Given the description of an element on the screen output the (x, y) to click on. 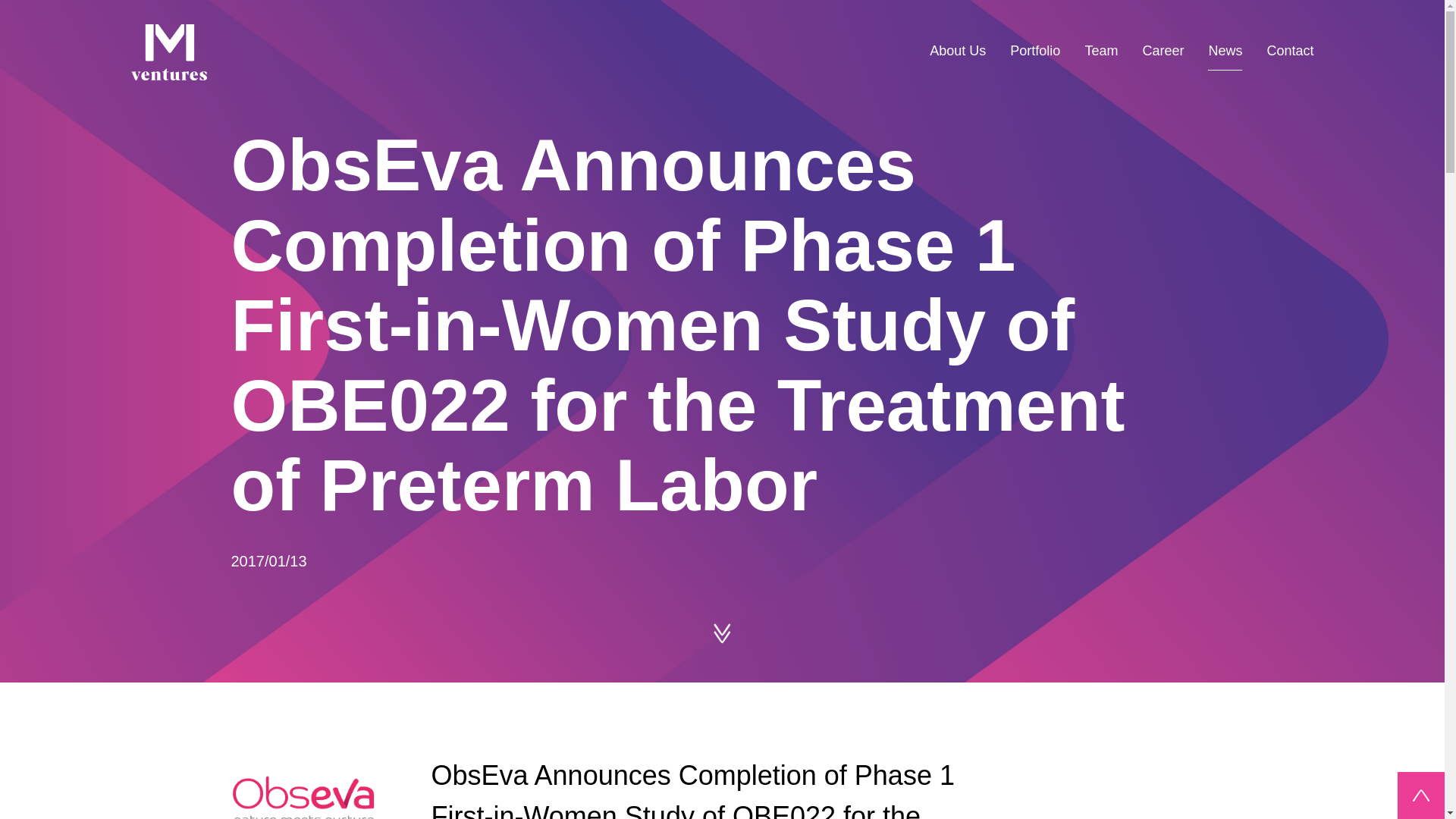
Zur Startseite wechseln (168, 55)
Career (1162, 50)
Portfolio (1034, 50)
About Us (957, 50)
Contact (1289, 50)
